Given the description of an element on the screen output the (x, y) to click on. 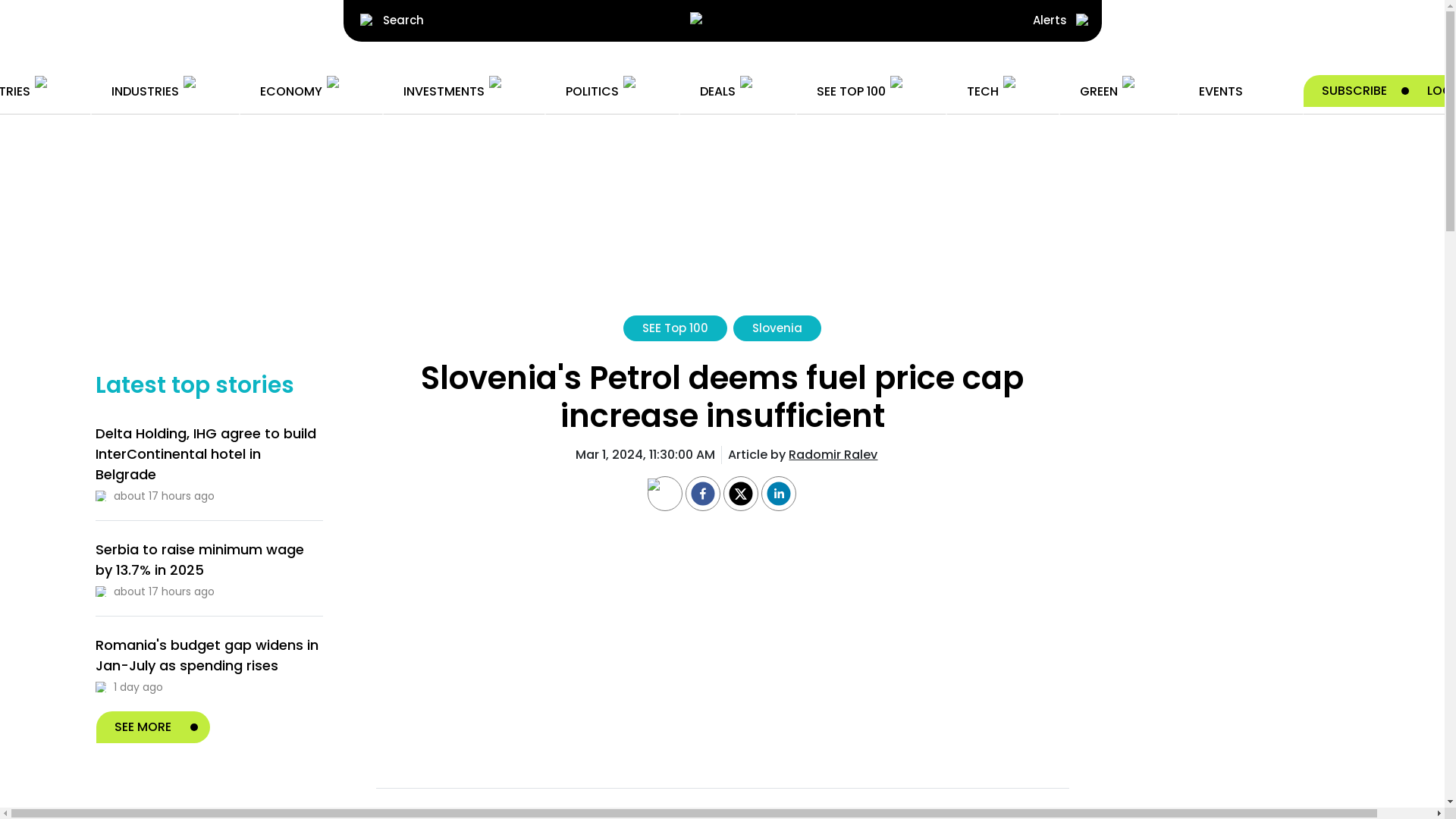
ECONOMY (310, 91)
COUNTRIES (34, 91)
INDUSTRIES (164, 91)
